Given the description of an element on the screen output the (x, y) to click on. 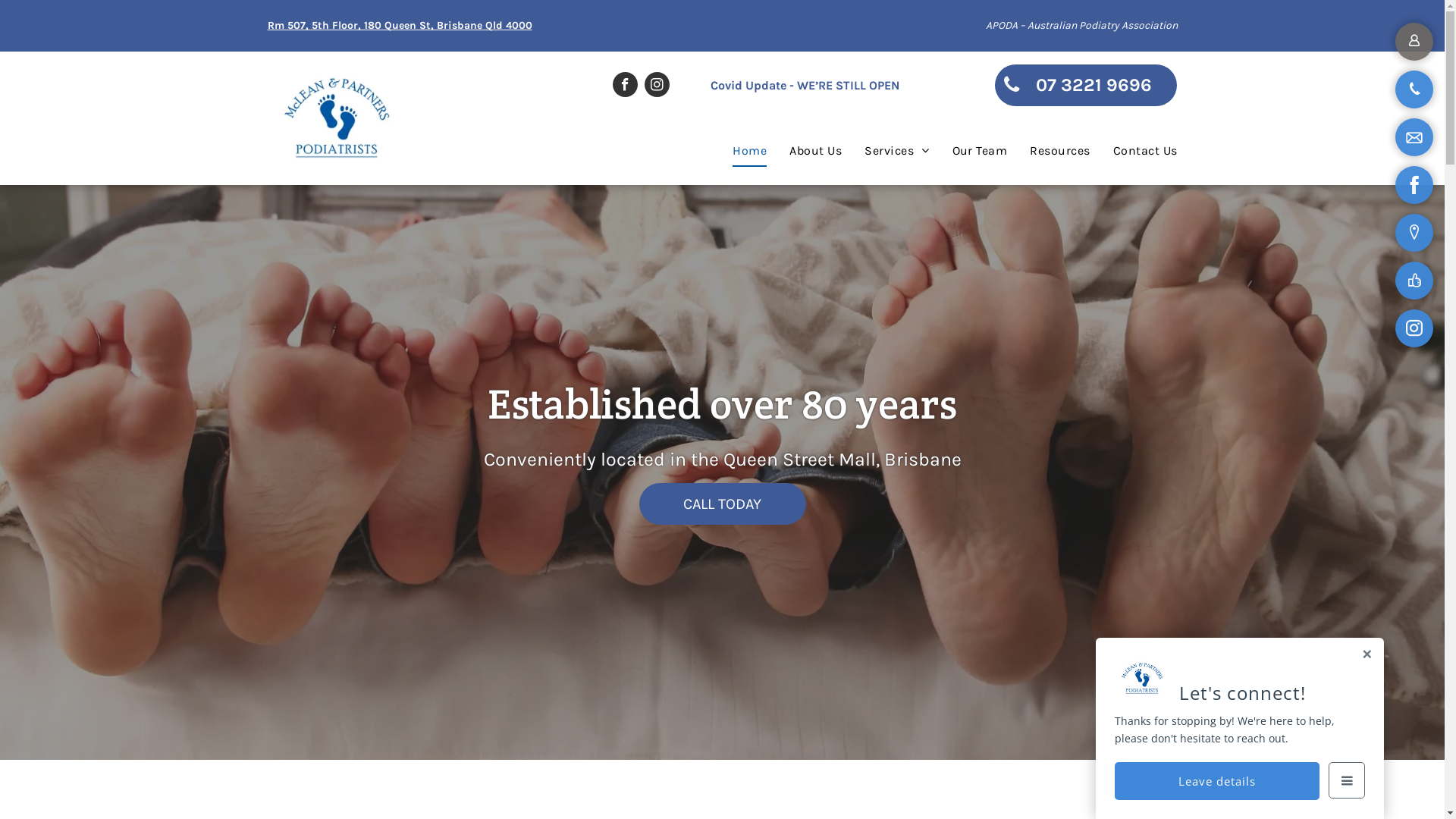
Contact Us Element type: text (1133, 150)
Services Element type: text (884, 150)
About Us Element type: text (803, 150)
07 3221 9696 Element type: text (1085, 85)
CALL TODAY Element type: text (721, 503)
Home Element type: text (737, 150)
Our Team Element type: text (968, 150)
Resources Element type: text (1048, 150)
Leave details Element type: text (1216, 781)
Rm 507, 5th Floor, 180 Queen St, Brisbane Qld 4000 Element type: text (398, 24)
McLean & Partners Podiatrists Element type: hover (335, 117)
